Given the description of an element on the screen output the (x, y) to click on. 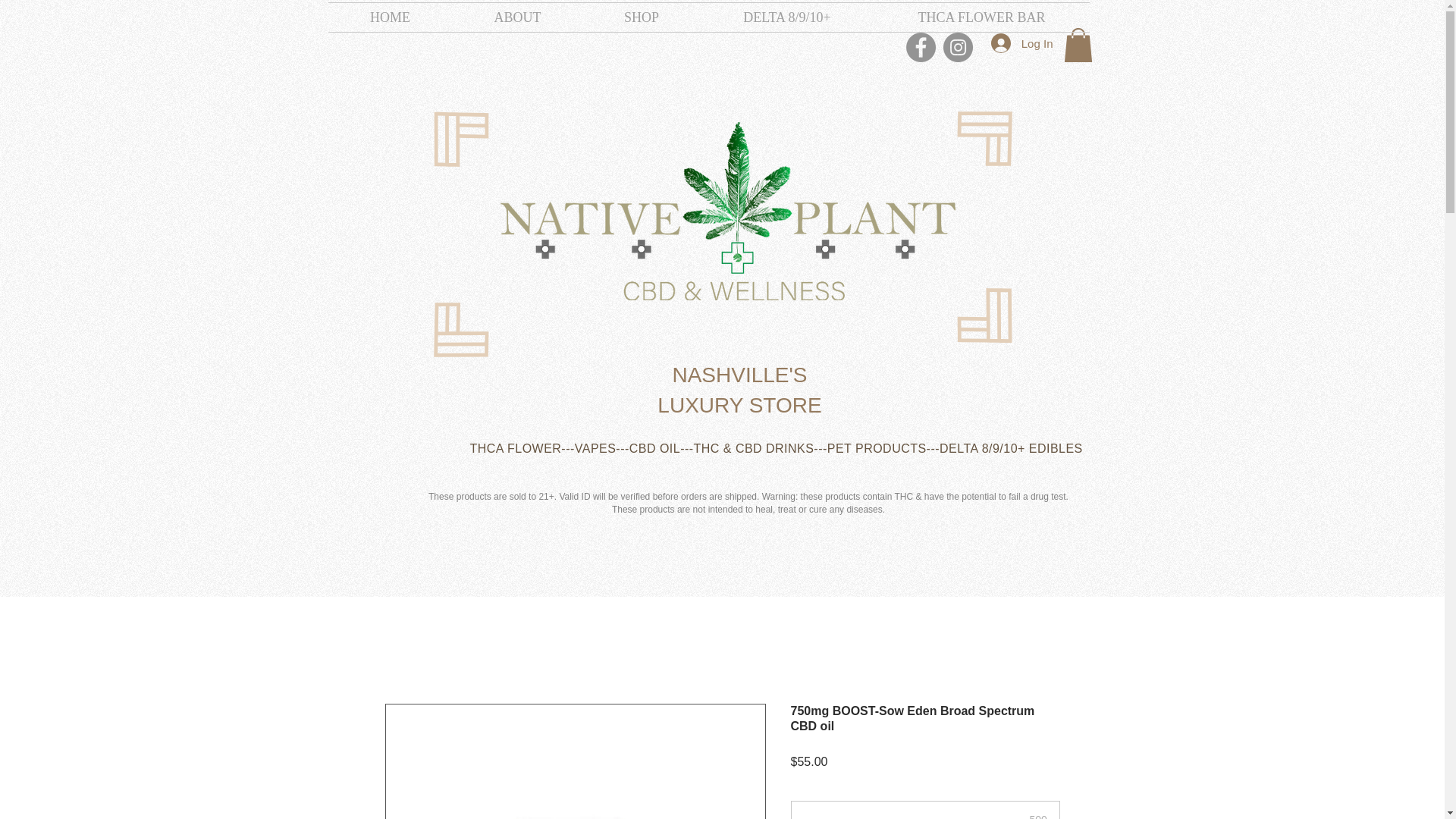
HOME (389, 17)
THCA FLOWER BAR (981, 17)
ABOUT (516, 17)
Log In (1021, 42)
SHOP (641, 17)
